Given the description of an element on the screen output the (x, y) to click on. 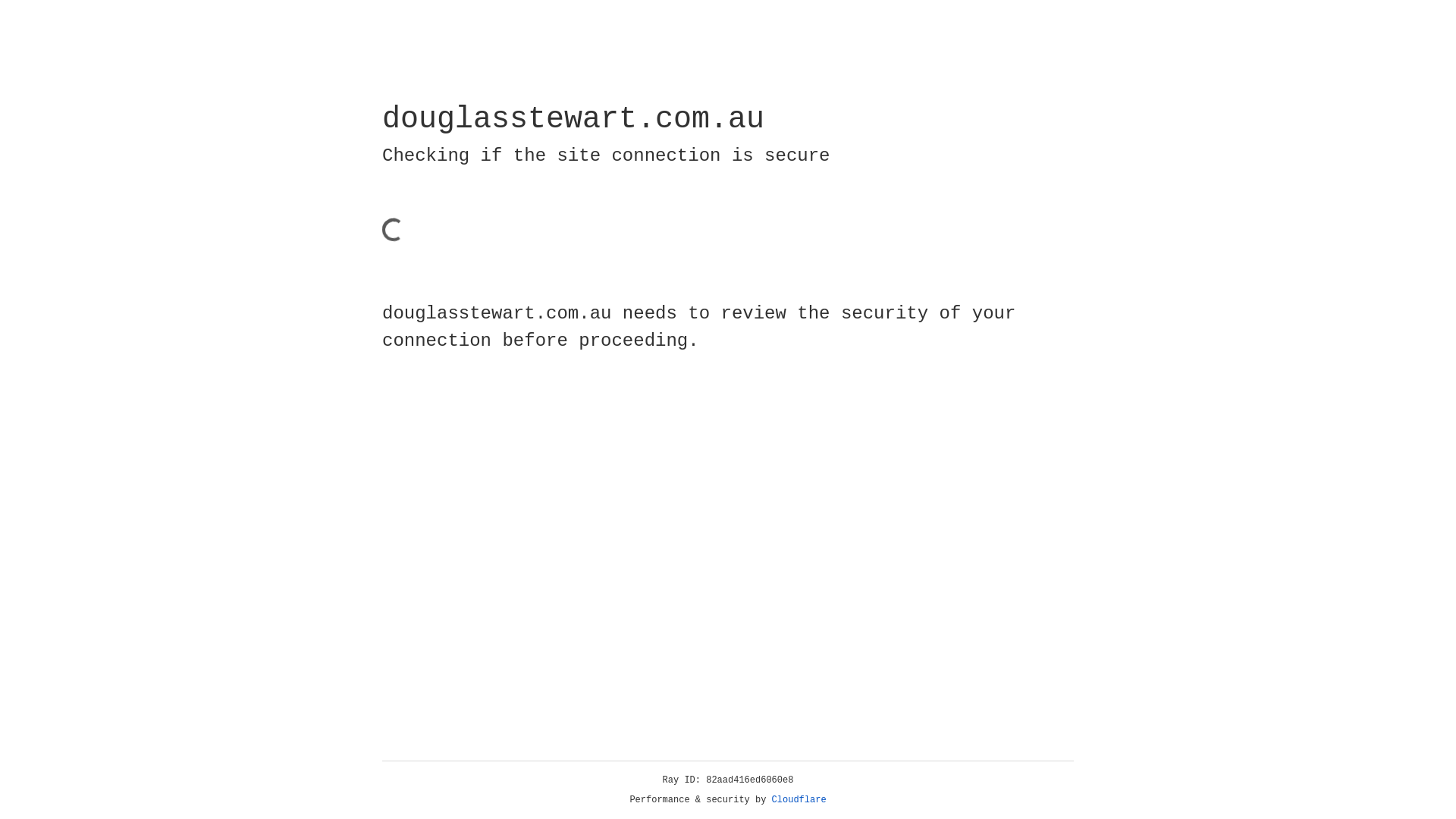
Cloudflare Element type: text (798, 799)
